Given the description of an element on the screen output the (x, y) to click on. 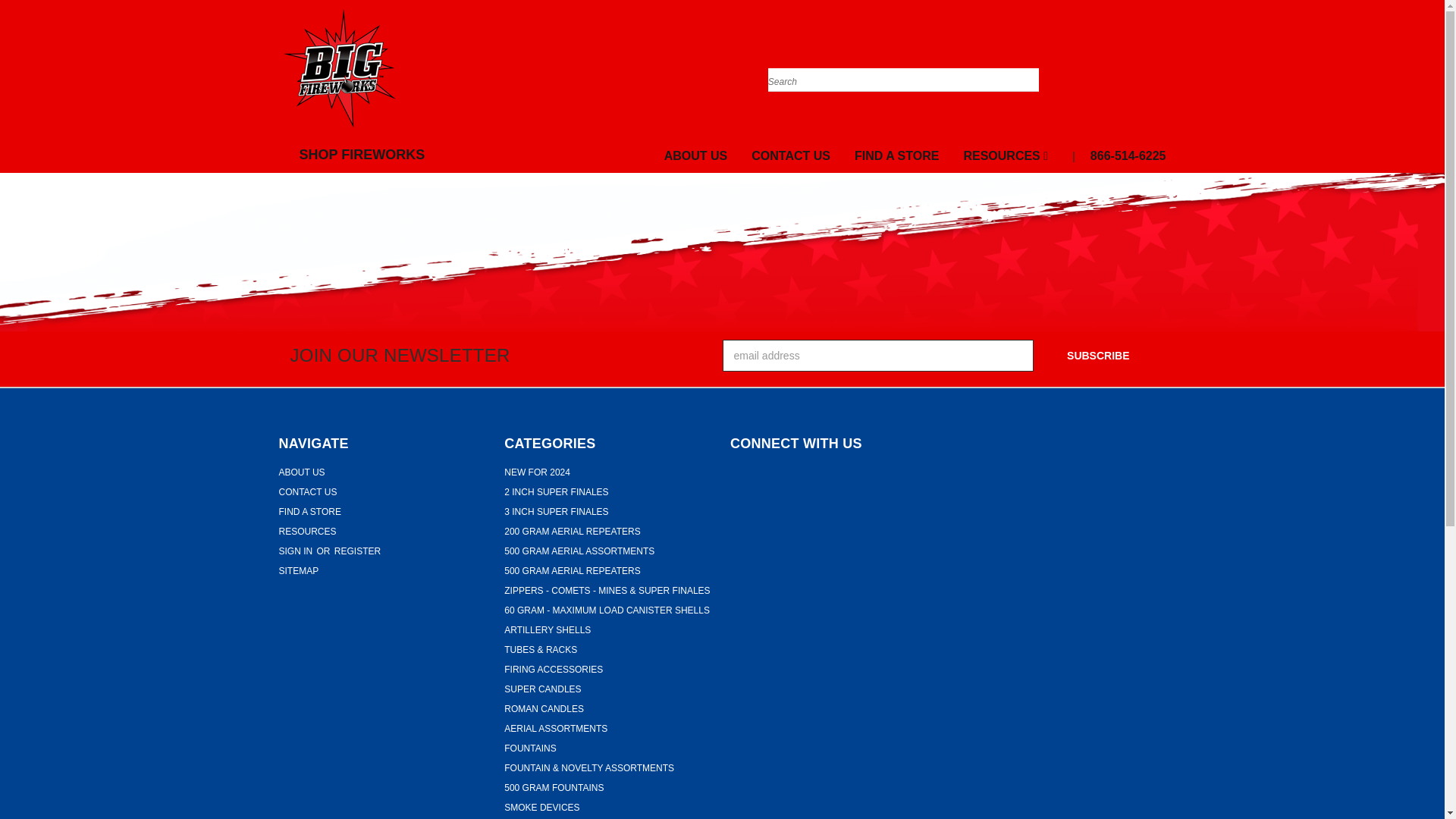
Big Fireworks (339, 67)
Submit Search (1026, 61)
User Toolbox (1135, 71)
Subscribe (1098, 355)
SHOP FIREWORKS (358, 154)
